Given the description of an element on the screen output the (x, y) to click on. 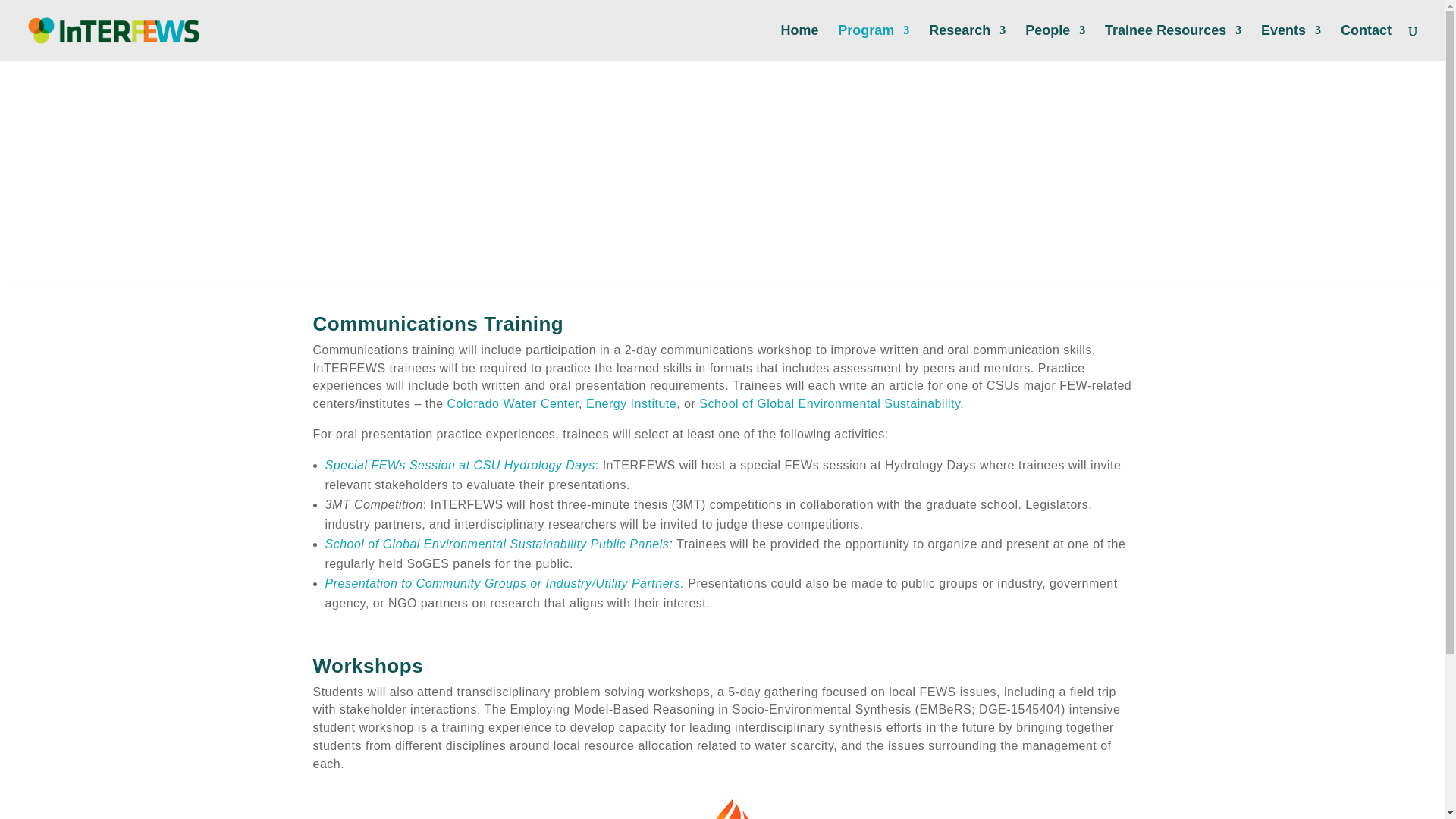
Program (873, 42)
Home (799, 42)
Trainee Resources (1173, 42)
Research (967, 42)
Events (1290, 42)
People (1054, 42)
Contact (1365, 42)
